Given the description of an element on the screen output the (x, y) to click on. 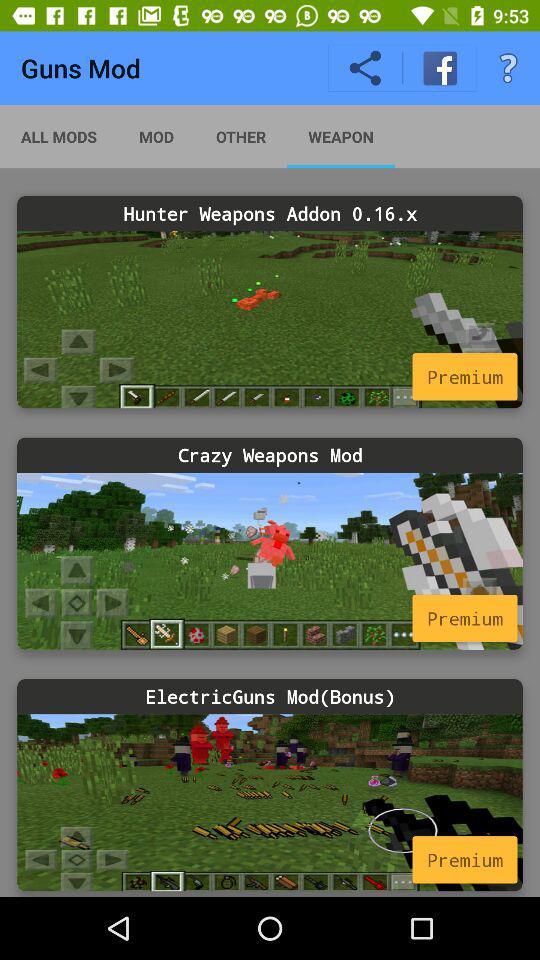
swipe to weapon app (340, 136)
